Given the description of an element on the screen output the (x, y) to click on. 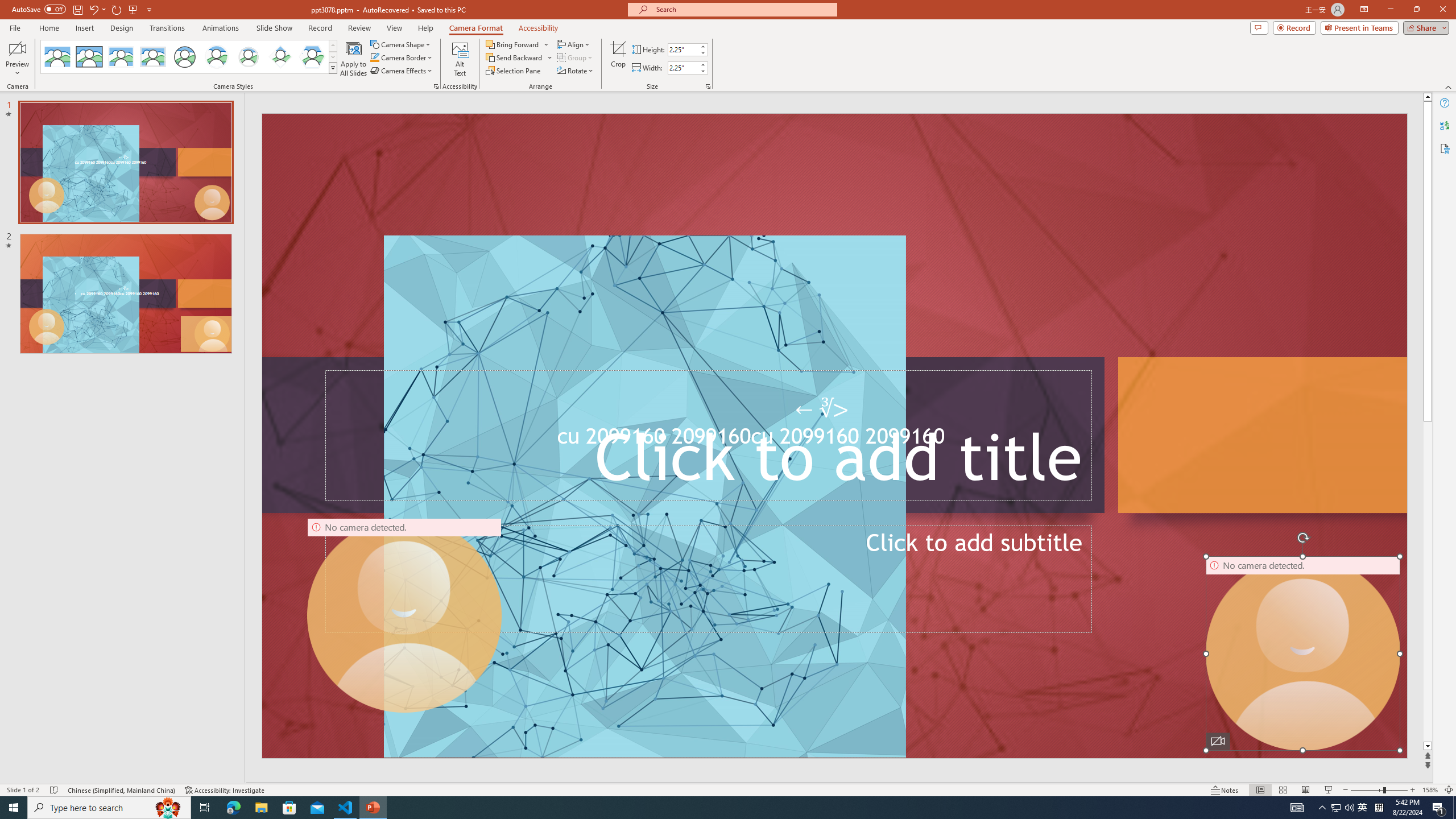
Bring Forward (517, 44)
Simple Frame Rectangle (88, 56)
Center Shadow Rectangle (120, 56)
AutomationID: CameoStylesGallery (189, 56)
Zoom 158% (1430, 790)
Camera Styles (333, 67)
